Given the description of an element on the screen output the (x, y) to click on. 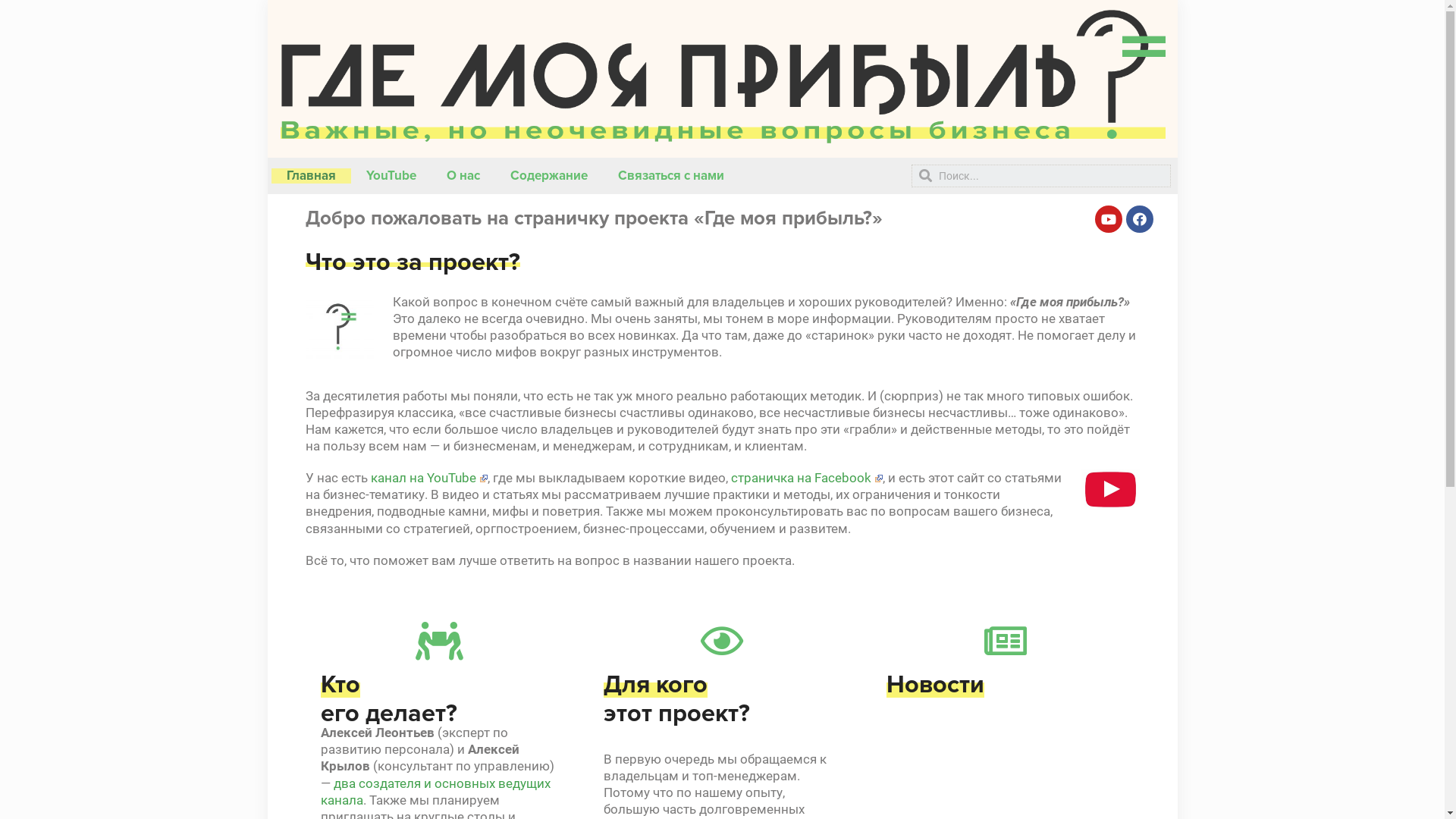
Search Element type: hover (1049, 175)
YouTube Element type: text (390, 175)
